Given the description of an element on the screen output the (x, y) to click on. 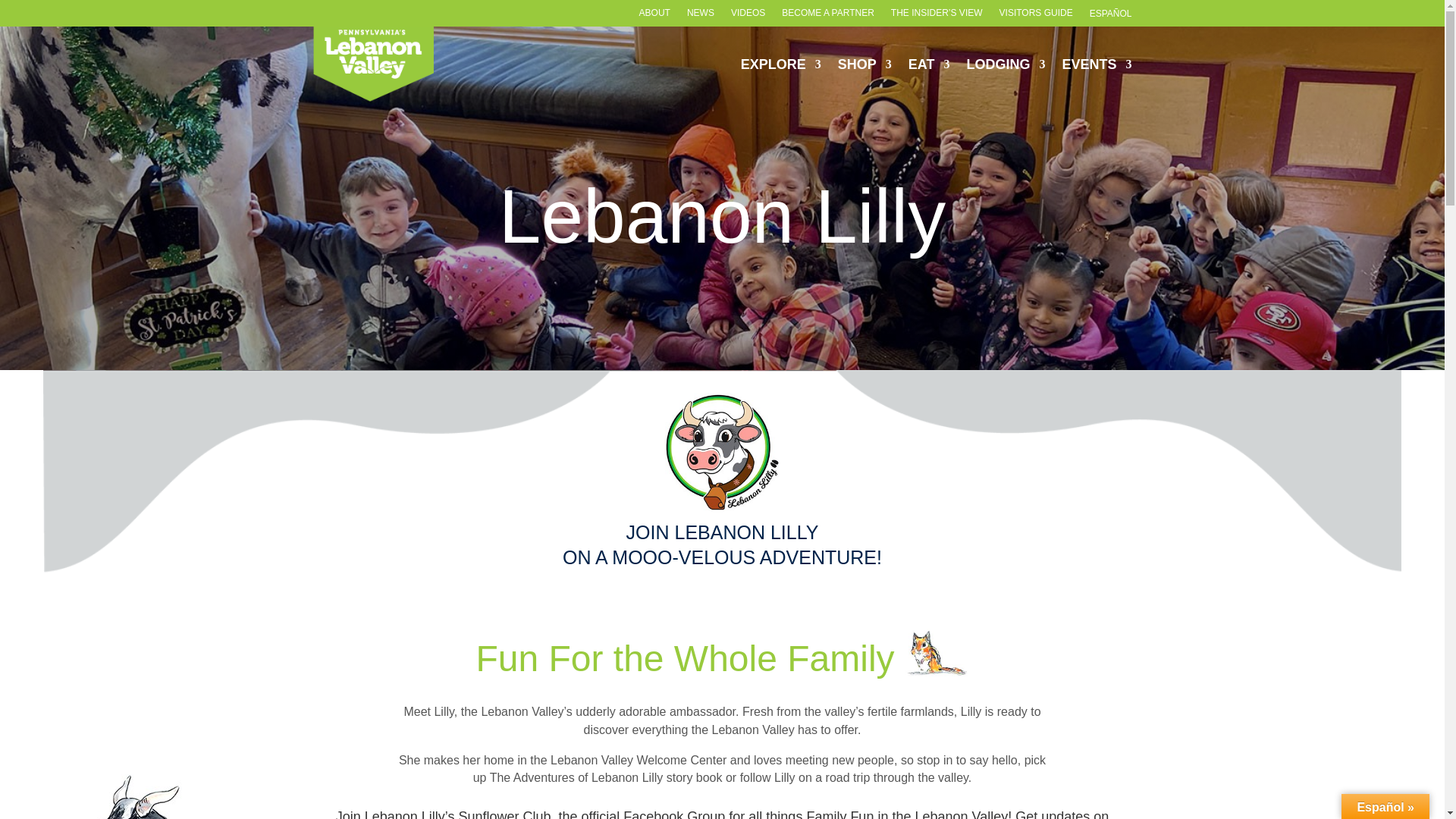
NEWS (700, 16)
ABOUT (654, 16)
EXPLORE (781, 64)
BECOME A PARTNER (828, 16)
VISITORS GUIDE (1035, 16)
Spanish (1110, 16)
VIDEOS (747, 16)
Lilly-Logo-Badge-250 (721, 452)
